Given the description of an element on the screen output the (x, y) to click on. 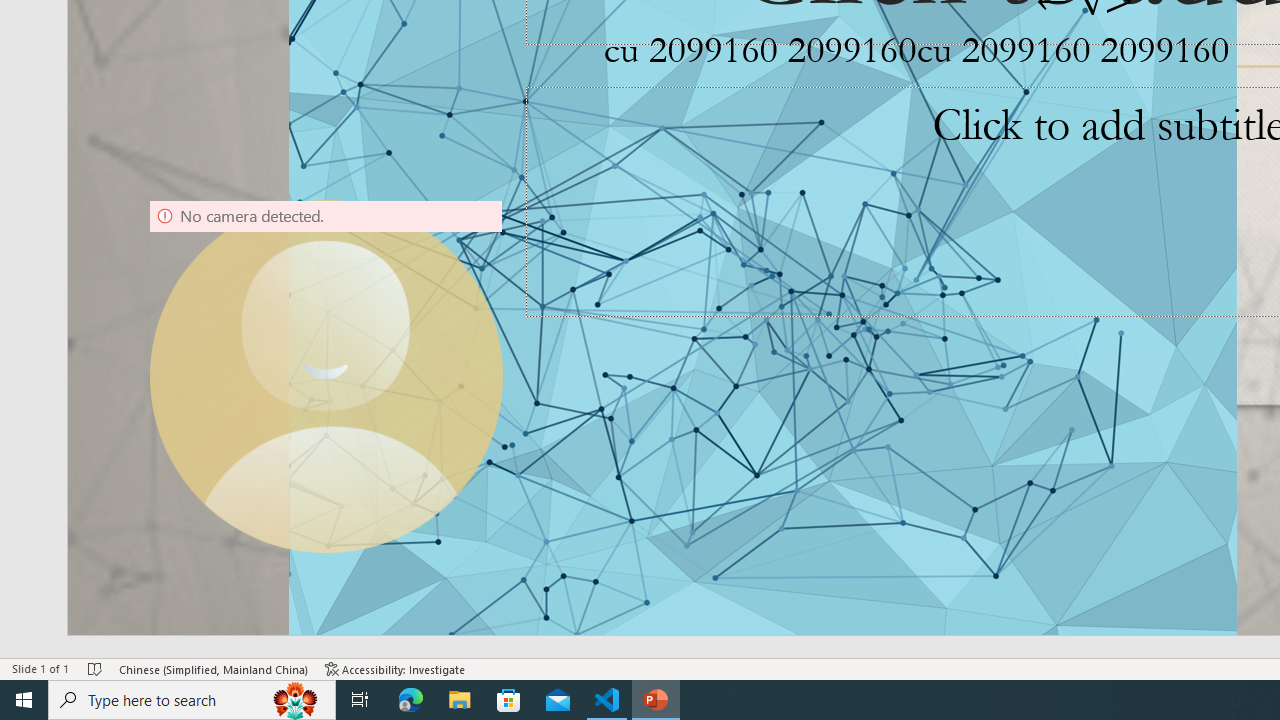
Accessibility Checker Accessibility: Investigate (395, 668)
Spell Check No Errors (95, 668)
Camera 9, No camera detected. (326, 376)
